Given the description of an element on the screen output the (x, y) to click on. 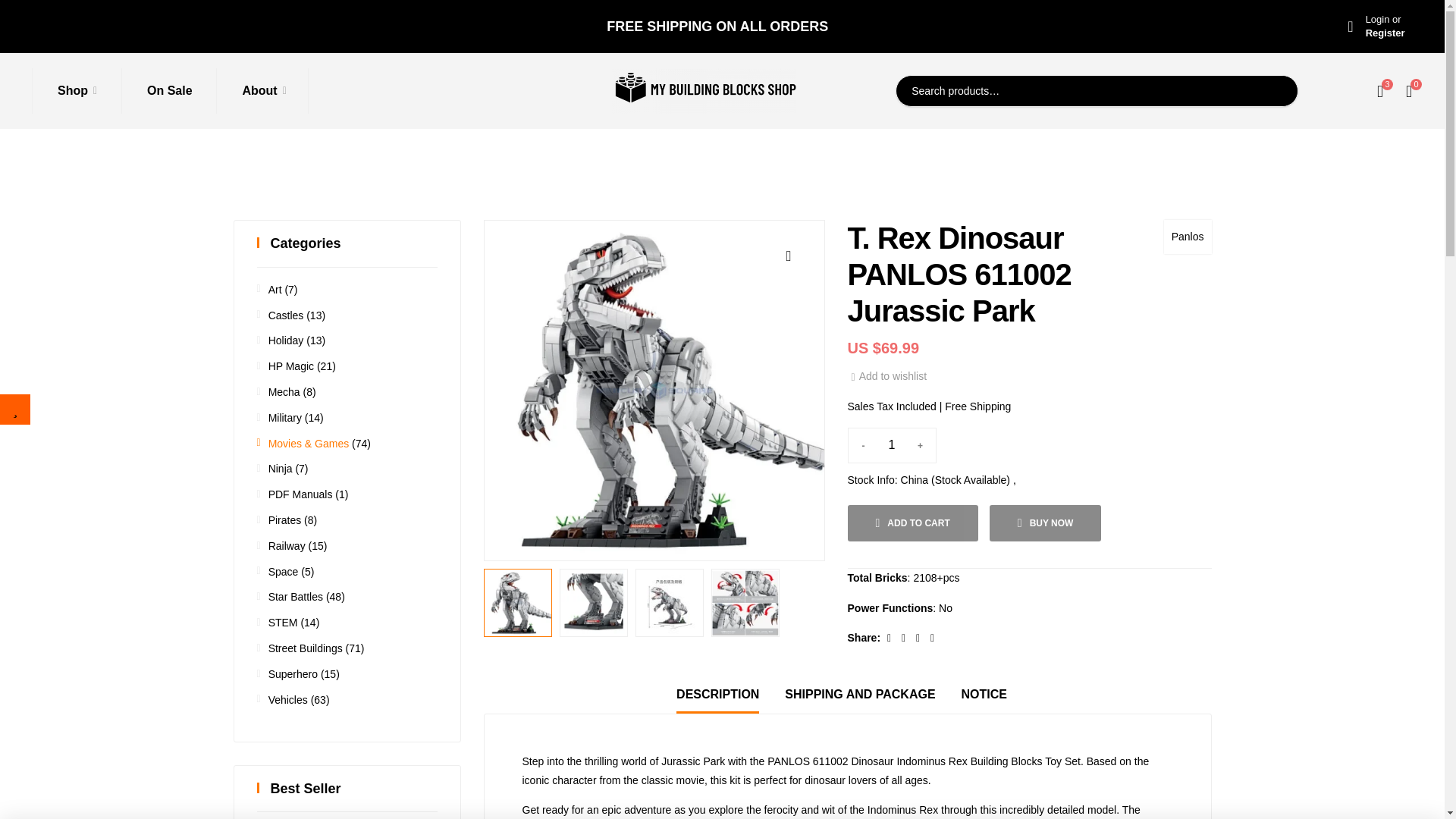
SEARCH (1274, 91)
Shop (74, 90)
FREE SHIPPING ON ALL ORDERS (717, 26)
Share on Google plus (1376, 26)
About (931, 637)
On Sale (261, 90)
Share on LinkedIn (167, 90)
Share on facebook (919, 637)
Share on Twitter (890, 637)
